Given the description of an element on the screen output the (x, y) to click on. 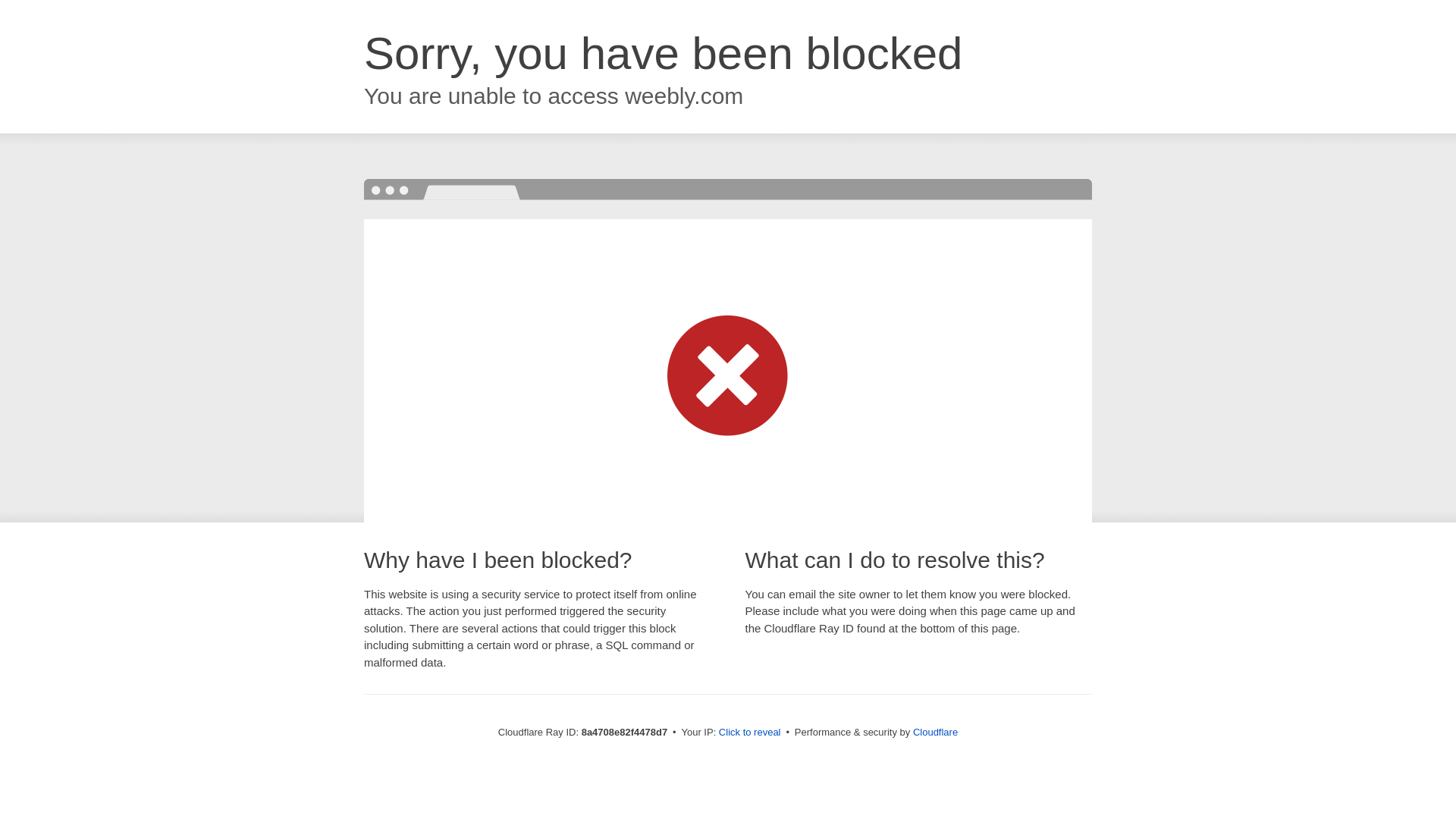
Click to reveal (749, 732)
Cloudflare (935, 731)
